Given the description of an element on the screen output the (x, y) to click on. 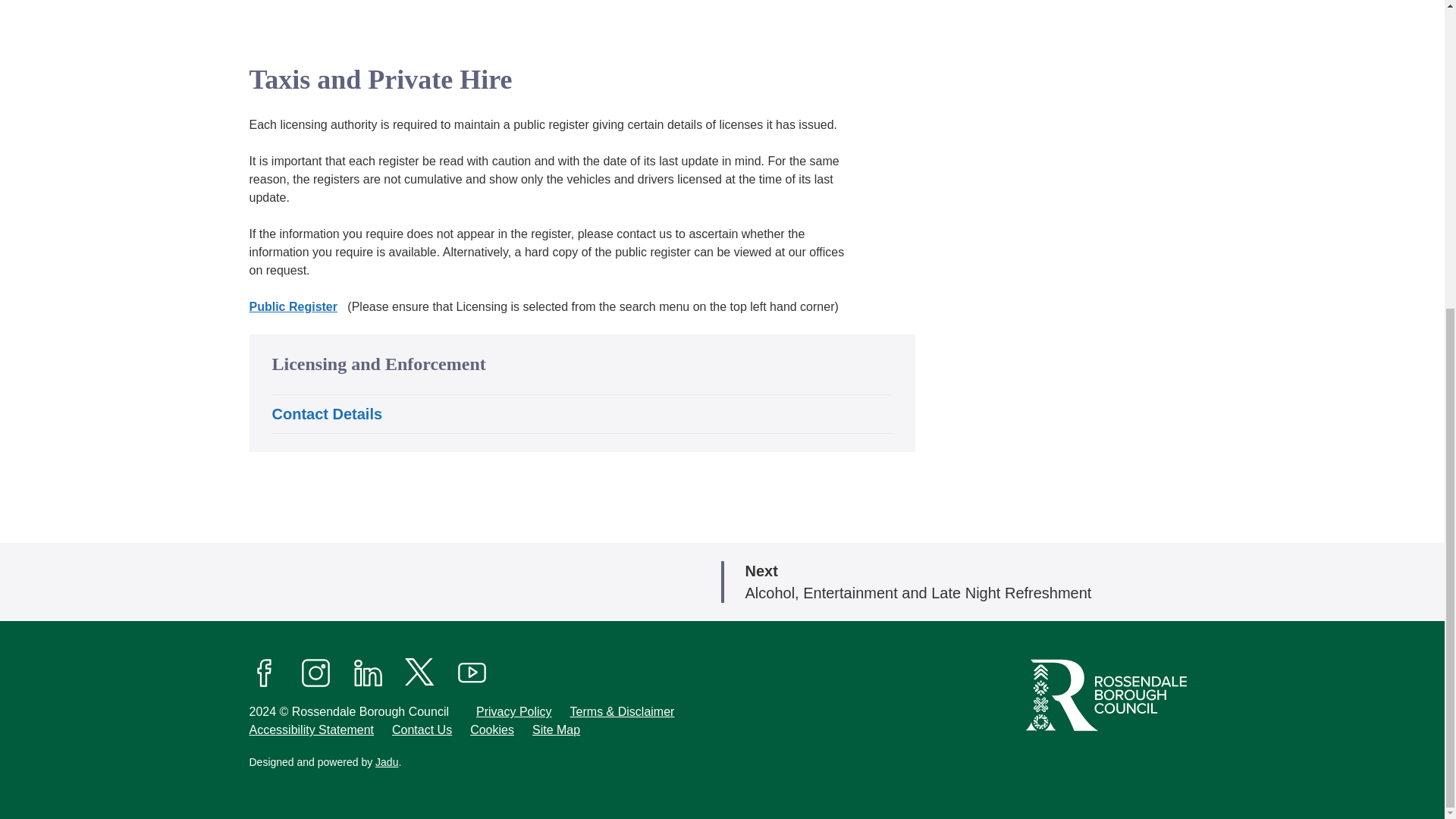
Facebook (264, 672)
Contact Details (325, 413)
Public Register (292, 306)
